Given the description of an element on the screen output the (x, y) to click on. 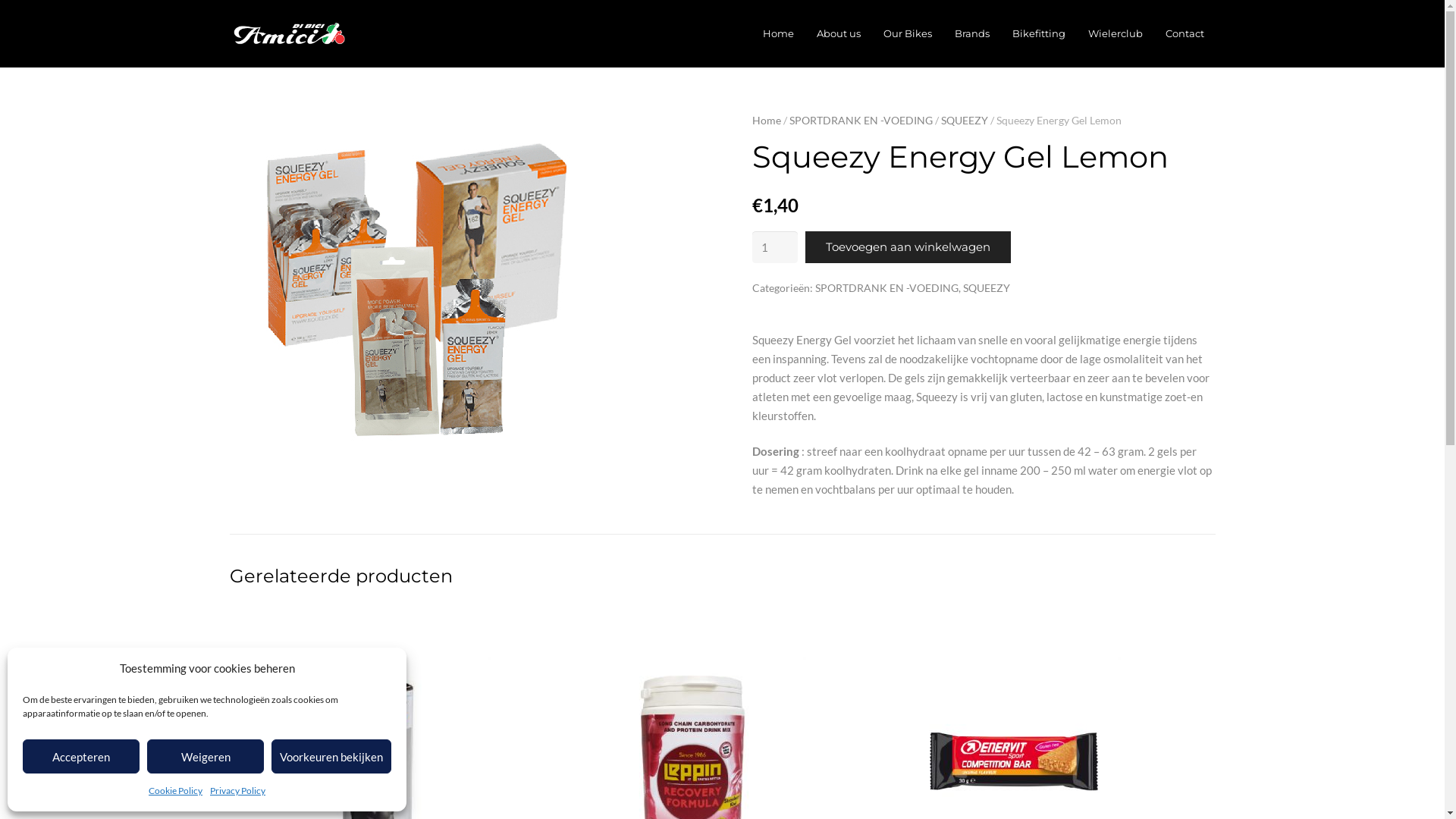
SQUEEZY Element type: text (986, 288)
SQUEEZY Element type: text (963, 120)
Home Element type: text (766, 120)
Our Bikes Element type: text (907, 33)
Bikefitting Element type: text (1038, 33)
Wielerclub Element type: text (1115, 33)
Privacy Policy Element type: text (237, 790)
Voorkeuren bekijken Element type: text (331, 756)
About us Element type: text (838, 33)
Brands Element type: text (972, 33)
Aantal Element type: hover (774, 247)
Home Element type: text (777, 33)
AmiciDiBici_WebshopArtboard 15 Element type: hover (418, 302)
SPORTDRANK EN -VOEDING Element type: text (859, 120)
SPORTDRANK EN -VOEDING Element type: text (885, 288)
Contact Element type: text (1184, 33)
Toevoegen aan winkelwagen Element type: text (907, 247)
Accepteren Element type: text (80, 756)
Weigeren Element type: text (205, 756)
Cookie Policy Element type: text (175, 790)
